Given the description of an element on the screen output the (x, y) to click on. 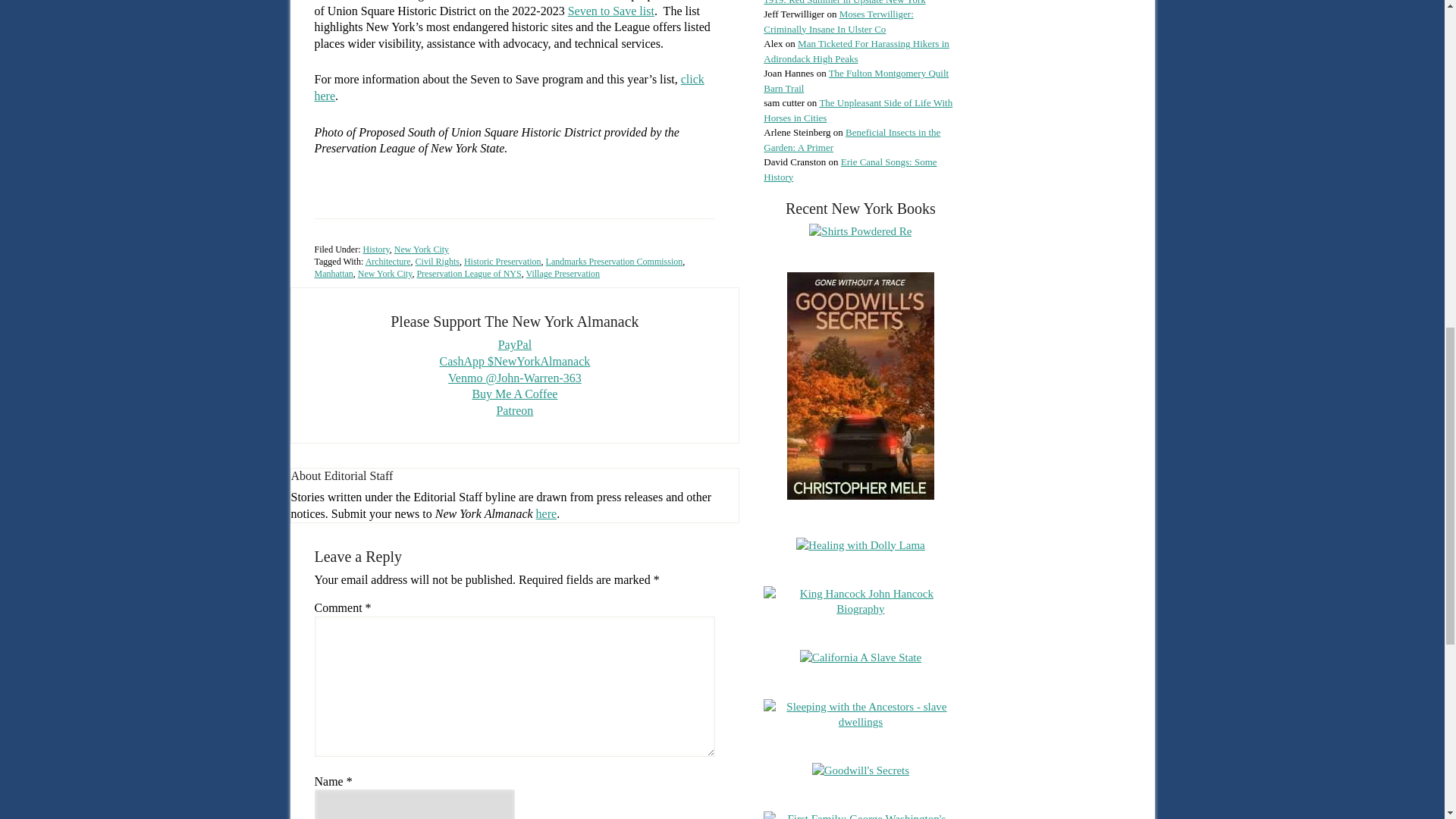
History (375, 249)
Seven to Save list (610, 10)
Civil Rights (437, 261)
Architecture (387, 261)
Historic Preservation (502, 261)
click here (508, 87)
Landmarks Preservation Commission (614, 261)
New York City (421, 249)
